Given the description of an element on the screen output the (x, y) to click on. 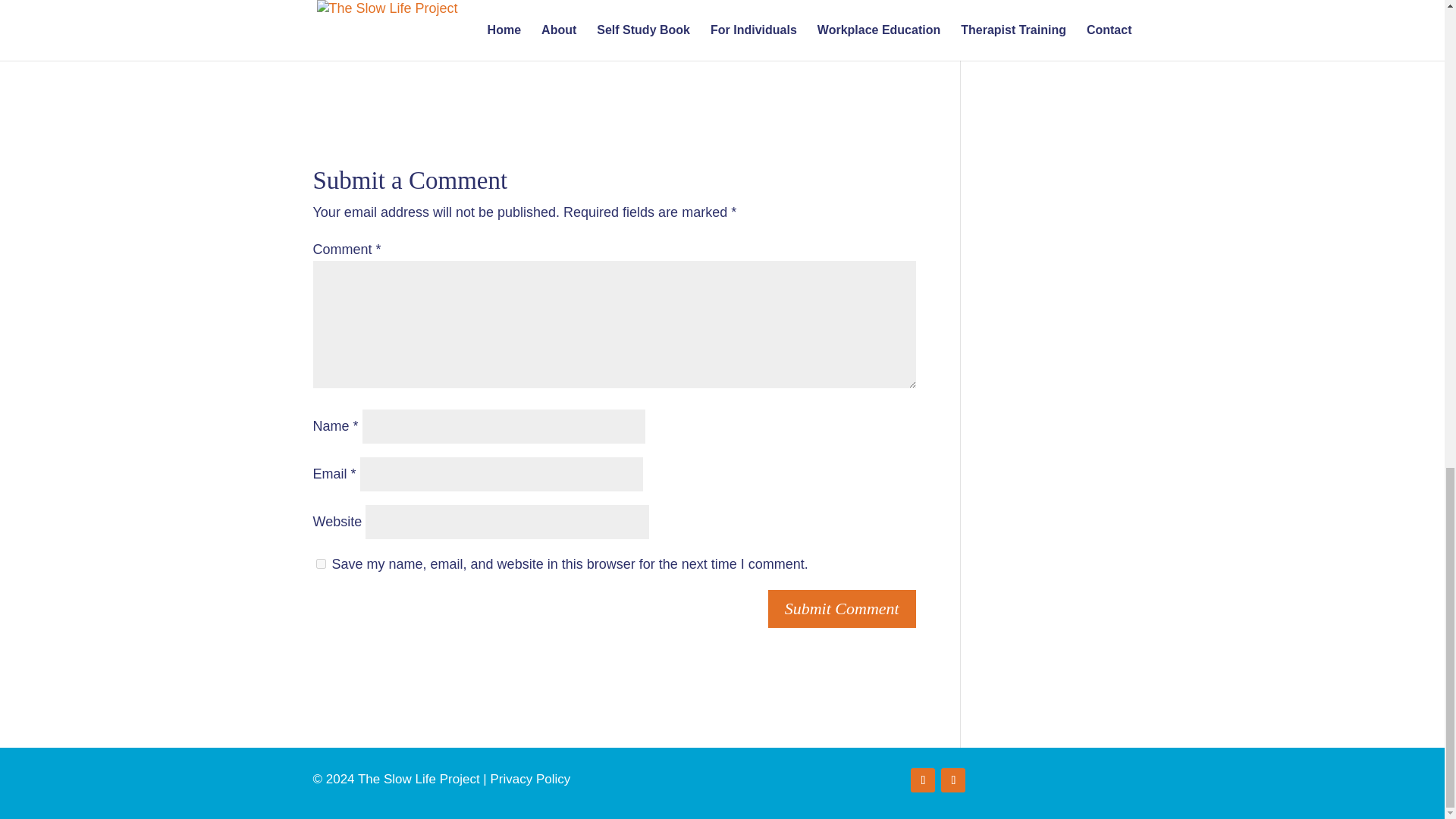
Submit Comment (841, 608)
Follow on Instagram (952, 780)
Privacy Policy (529, 779)
Follow on Facebook (922, 780)
yes (319, 563)
Submit Comment (841, 608)
